Given the description of an element on the screen output the (x, y) to click on. 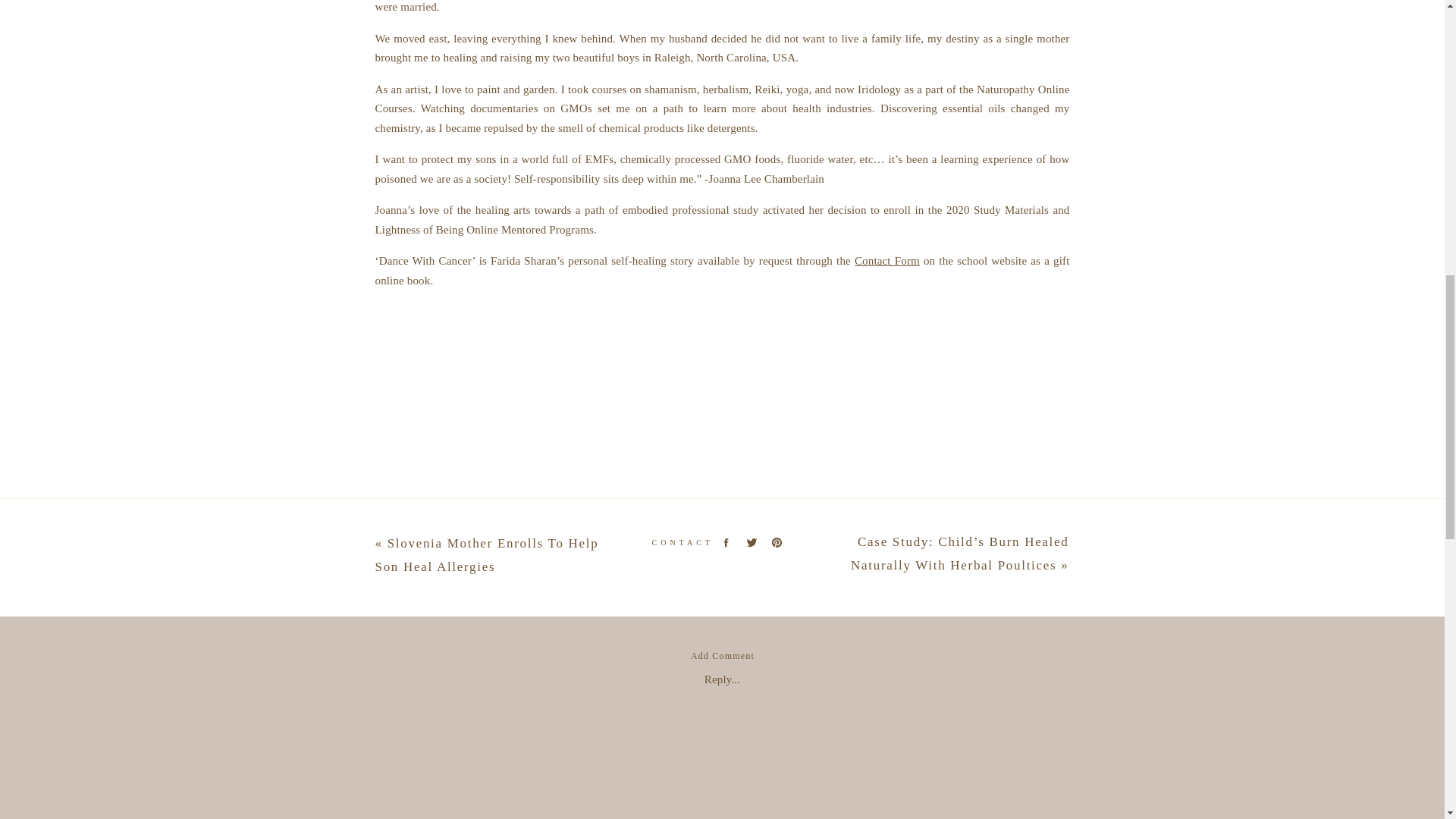
Add Comment (722, 655)
Contact Form (887, 260)
Slovenia Mother Enrolls To Help Son Heal Allergies (486, 555)
CONTACT (676, 542)
